Given the description of an element on the screen output the (x, y) to click on. 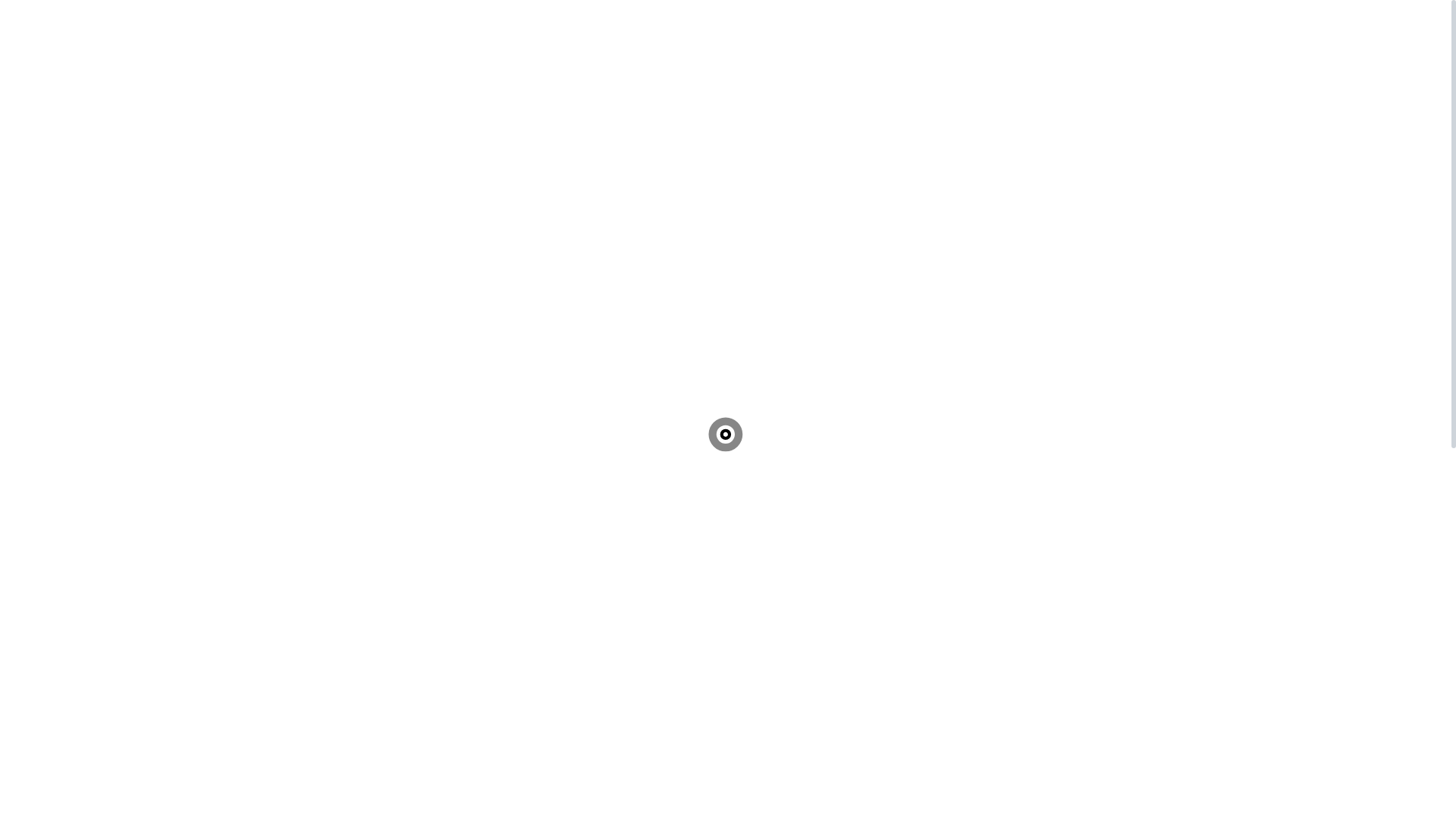
Alle producten Element type: text (102, 236)
Diverse salades Element type: text (104, 564)
Salades met vlees Element type: text (109, 523)
Vinaigrette Element type: text (93, 168)
Alle producten Element type: text (102, 577)
Rundsvlees Element type: text (94, 113)
Diepvries Element type: text (89, 195)
Kalfsvlees Element type: text (92, 72)
Menu's Element type: text (53, 18)
Fitmeals Element type: text (87, 291)
Dranken Element type: text (87, 714)
Schotels Element type: text (86, 618)
Charcuterie met gevogelte Element type: text (130, 400)
1-pans gerechten Element type: text (107, 318)
Vers vlees Element type: text (60, 31)
Alle producten Element type: text (102, 495)
Gezouten vleeswaren Element type: text (118, 427)
Eindejaar Element type: text (59, 605)
Gehaktbereidingen Element type: text (112, 127)
Warme sauzen Element type: text (101, 741)
Contact Element type: text (55, 768)
Kaas Element type: text (48, 591)
Traiteurgerechten Element type: text (79, 250)
Tapas Element type: text (80, 413)
Kookworsten Element type: text (98, 454)
Alle producten Element type: text (102, 140)
Koude sauzen Element type: text (100, 727)
Varkensvlees Element type: text (98, 59)
Sharing Element type: text (85, 304)
Salades met gevogelte Element type: text (120, 550)
Hespen Element type: text (84, 441)
Voor in de pan Element type: text (101, 45)
Hoofdgerechten Element type: text (105, 659)
Ovenschotels Element type: text (98, 332)
Bbq Element type: text (76, 100)
Toebehoren Element type: text (64, 154)
Vlaamse klassiekers Element type: text (115, 345)
Charcuterie Element type: text (64, 386)
Bijgerechten Element type: text (97, 263)
Voorgerechten Element type: text (101, 646)
Dessert Element type: text (84, 700)
Droge voeding Element type: text (102, 222)
Kruiden Element type: text (86, 181)
Hapjes Element type: text (83, 632)
Salades met vis Element type: text (104, 536)
Alle producten Element type: text (102, 373)
Soep Element type: text (78, 277)
Bijgerechten Element type: text (97, 686)
Internationale keuken Element type: text (119, 359)
Soepen Element type: text (84, 673)
Salades Element type: text (54, 509)
Conserven Element type: text (92, 209)
Alle producten Element type: text (102, 755)
Gevogelte Element type: text (91, 86)
Salami Element type: text (83, 482)
